Given the description of an element on the screen output the (x, y) to click on. 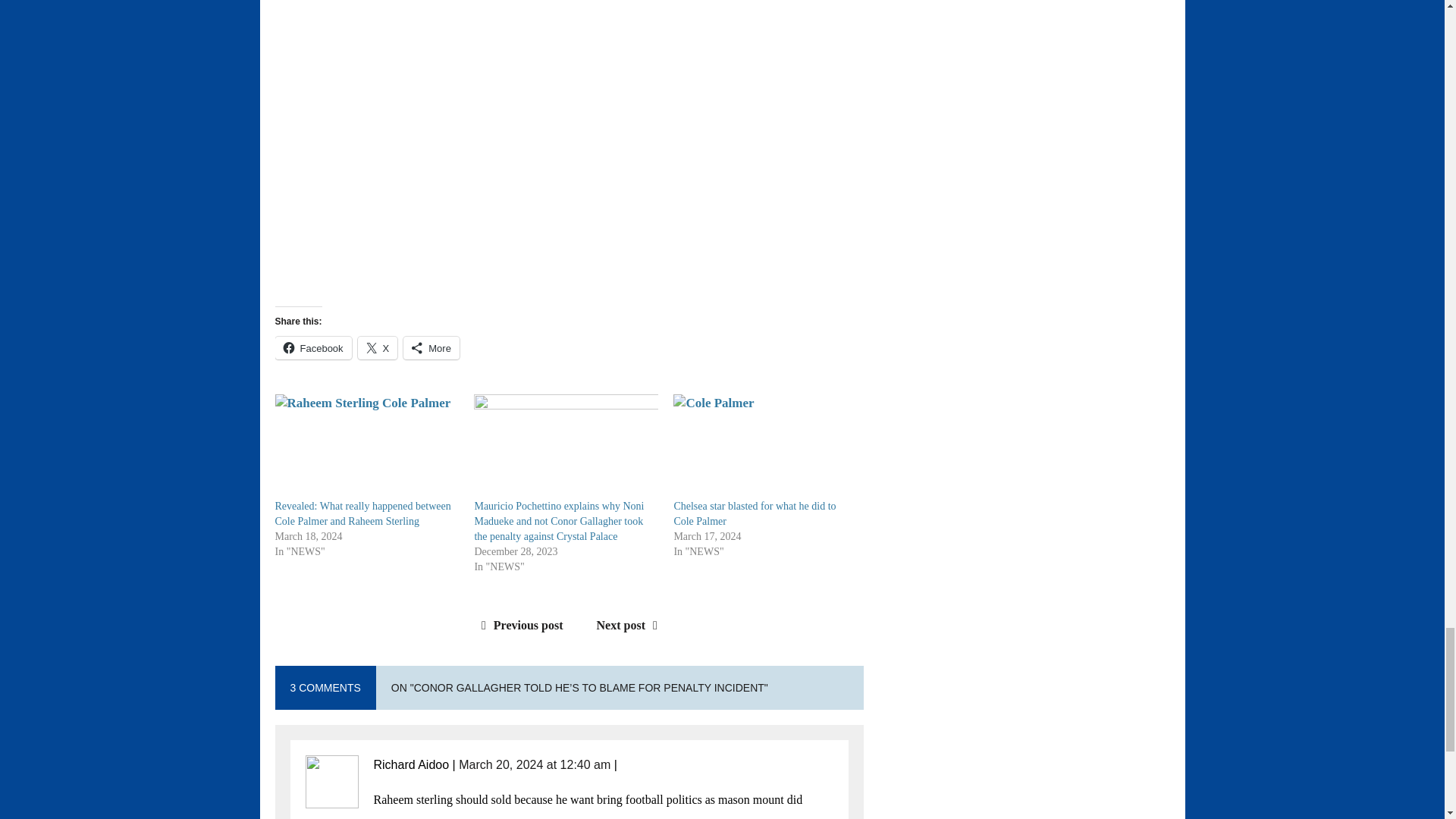
X (377, 347)
Chelsea star blasted for what he did to Cole Palmer (753, 513)
Facebook (312, 347)
Next post (630, 625)
Previous post (518, 625)
March 20, 2024 at 12:40 am (534, 764)
More (431, 347)
